Given the description of an element on the screen output the (x, y) to click on. 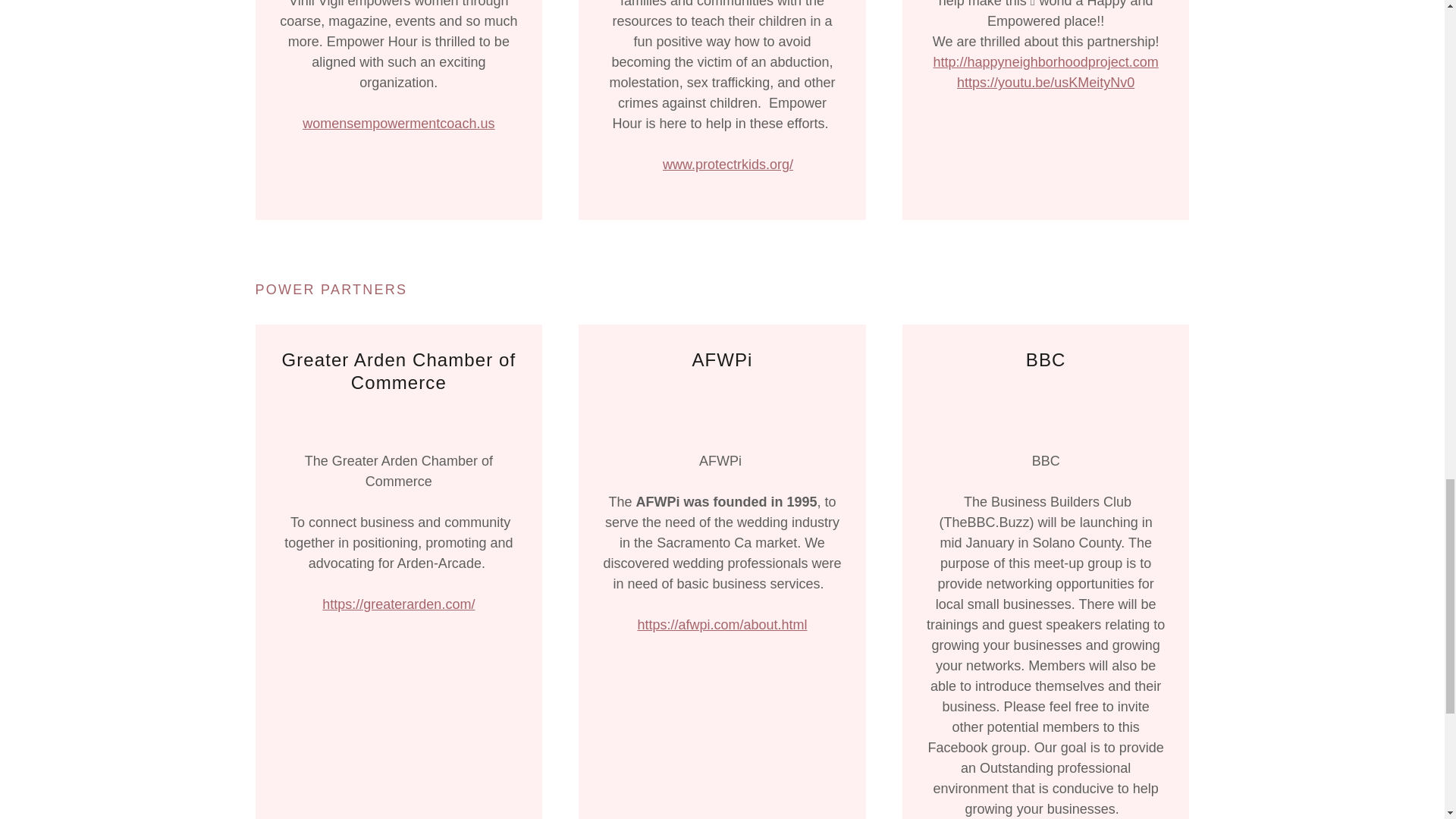
womensempowermentcoach.us (398, 123)
